Given the description of an element on the screen output the (x, y) to click on. 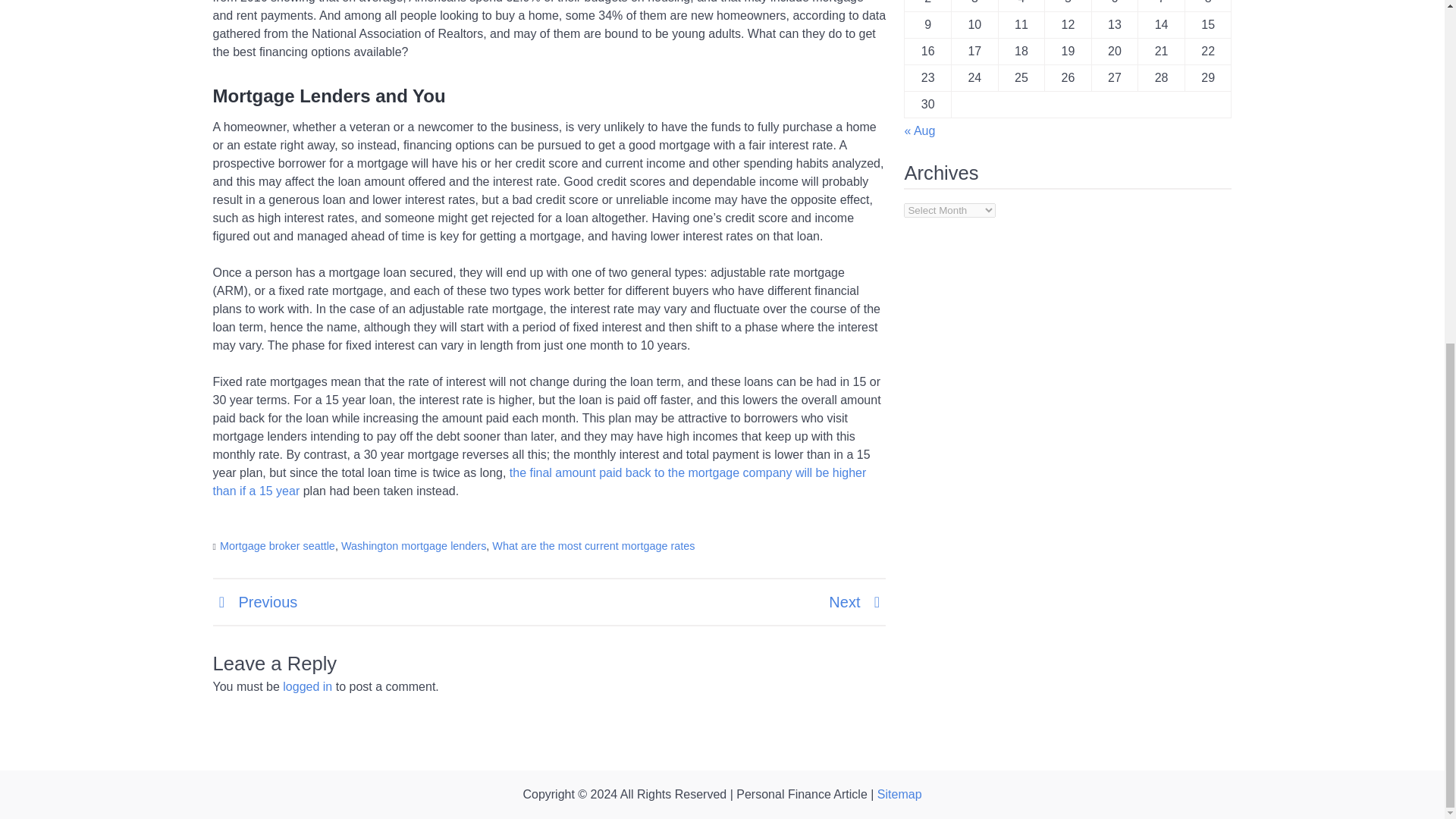
Washington mortgage lenders (413, 545)
logged in (306, 686)
Sitemap (899, 793)
What are the most current mortgage rates (593, 545)
Previous (254, 601)
Get more related to What are the most current mortgage rates (539, 481)
Next (856, 601)
Mortgage broker seattle (276, 545)
